Given the description of an element on the screen output the (x, y) to click on. 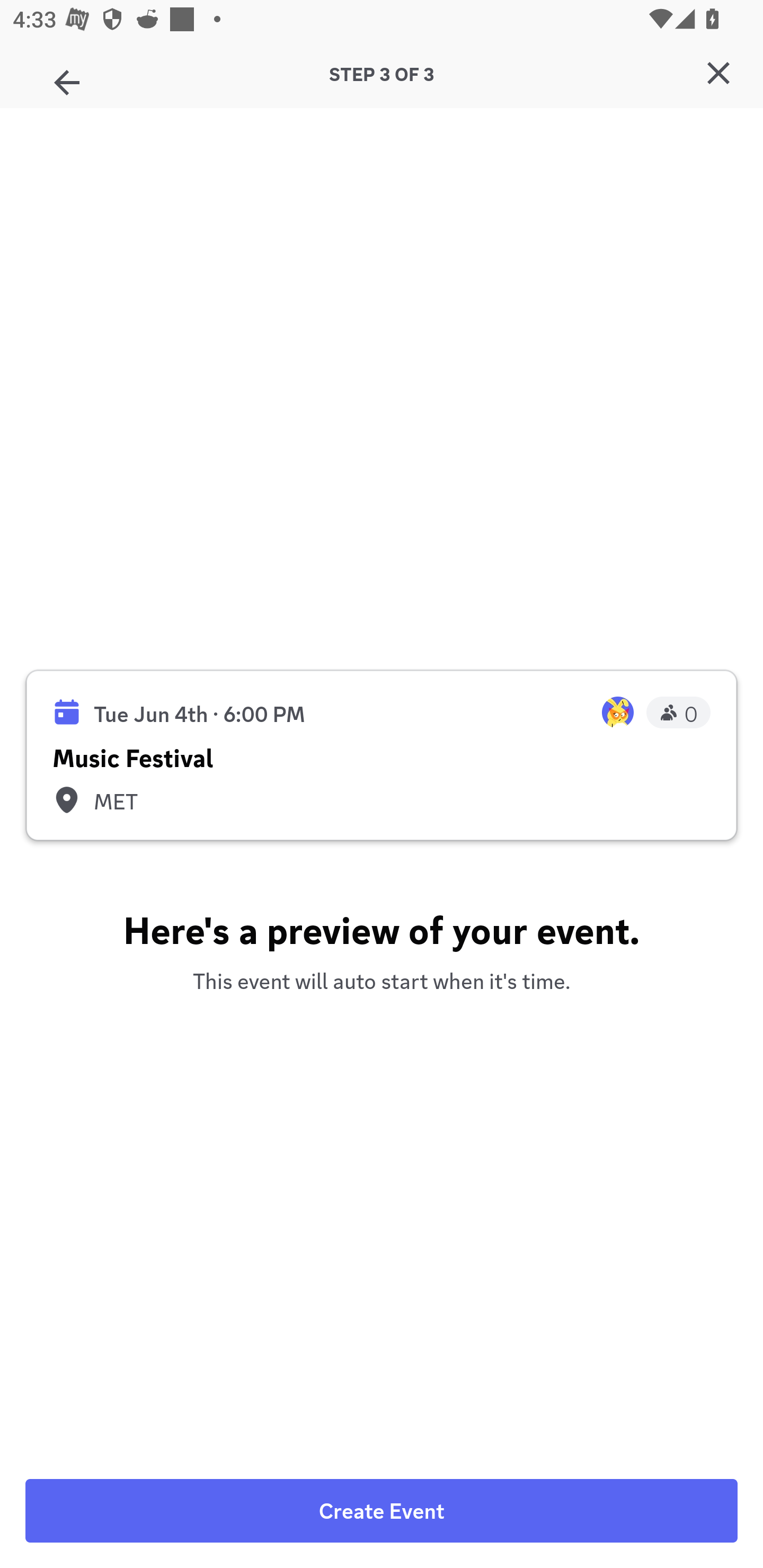
  Friends F (66, 75)
Close (718, 72)
Music Festival (381, 751)
Create Event (381, 1510)
